Given the description of an element on the screen output the (x, y) to click on. 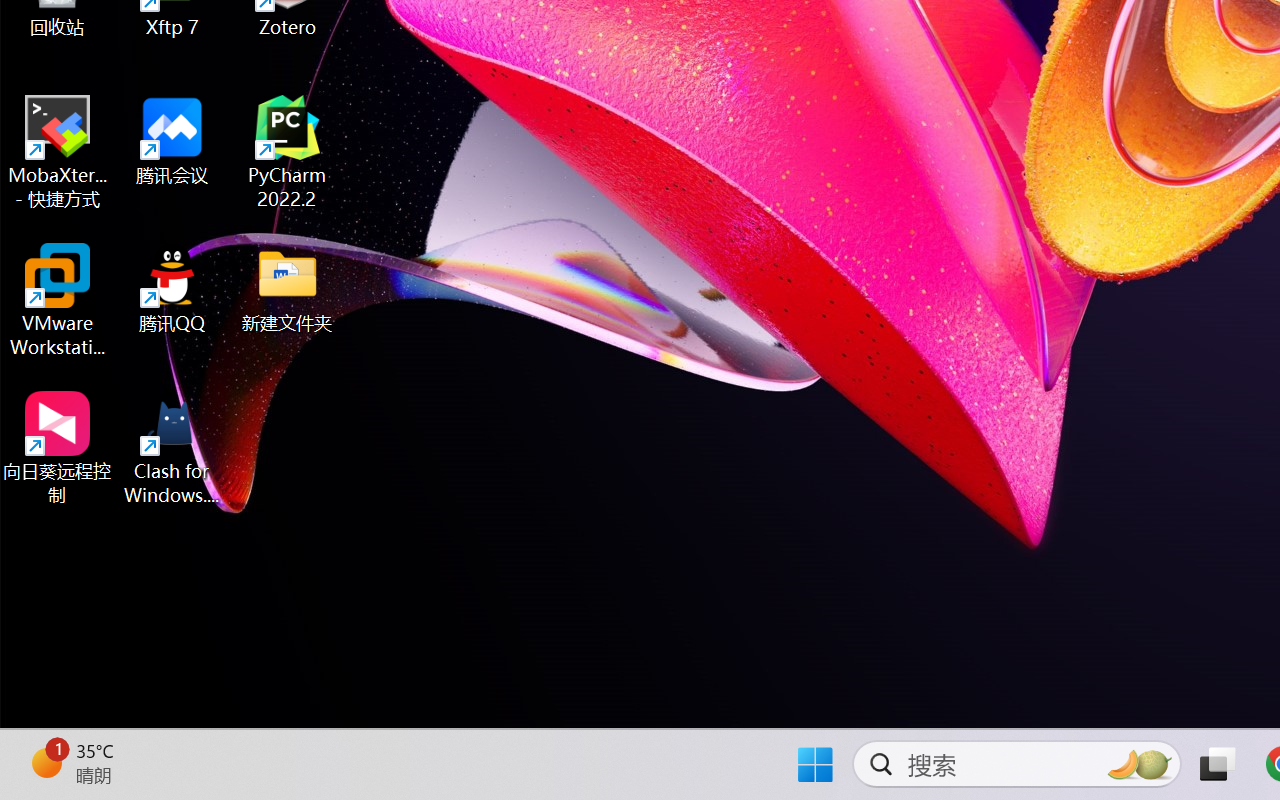
VMware Workstation Pro (57, 300)
PyCharm 2022.2 (287, 152)
